Given the description of an element on the screen output the (x, y) to click on. 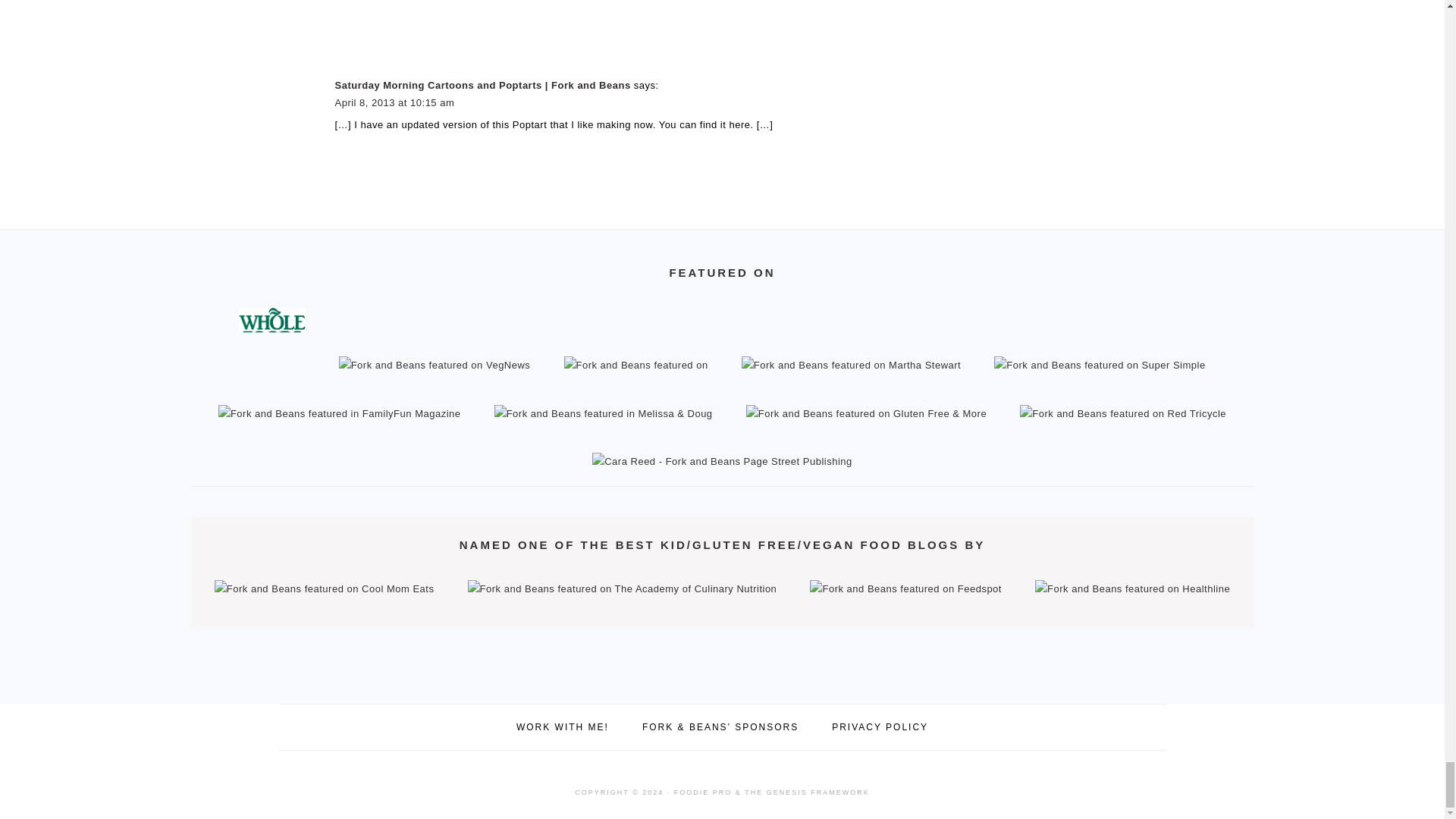
Fork and Beans featured on Healthline (1132, 588)
Fork and Beans featured on VegNews (434, 365)
Fork and Beans featured on The Academy of Culinary Nutrition (622, 588)
Fork and Beans featured in FamilyFun Magazine (339, 413)
Fork and Beans featured on Red Tricycle (1122, 413)
Cara Reed - Fork and Beans Page Street Publishing (721, 461)
Fork and Beans featured on Cool Mom Eats (324, 588)
Fork and Beans featured on (635, 365)
Fork and Beans featured on Feedspot (905, 588)
Fork and Beans featured on Martha Stewart (850, 365)
